Given the description of an element on the screen output the (x, y) to click on. 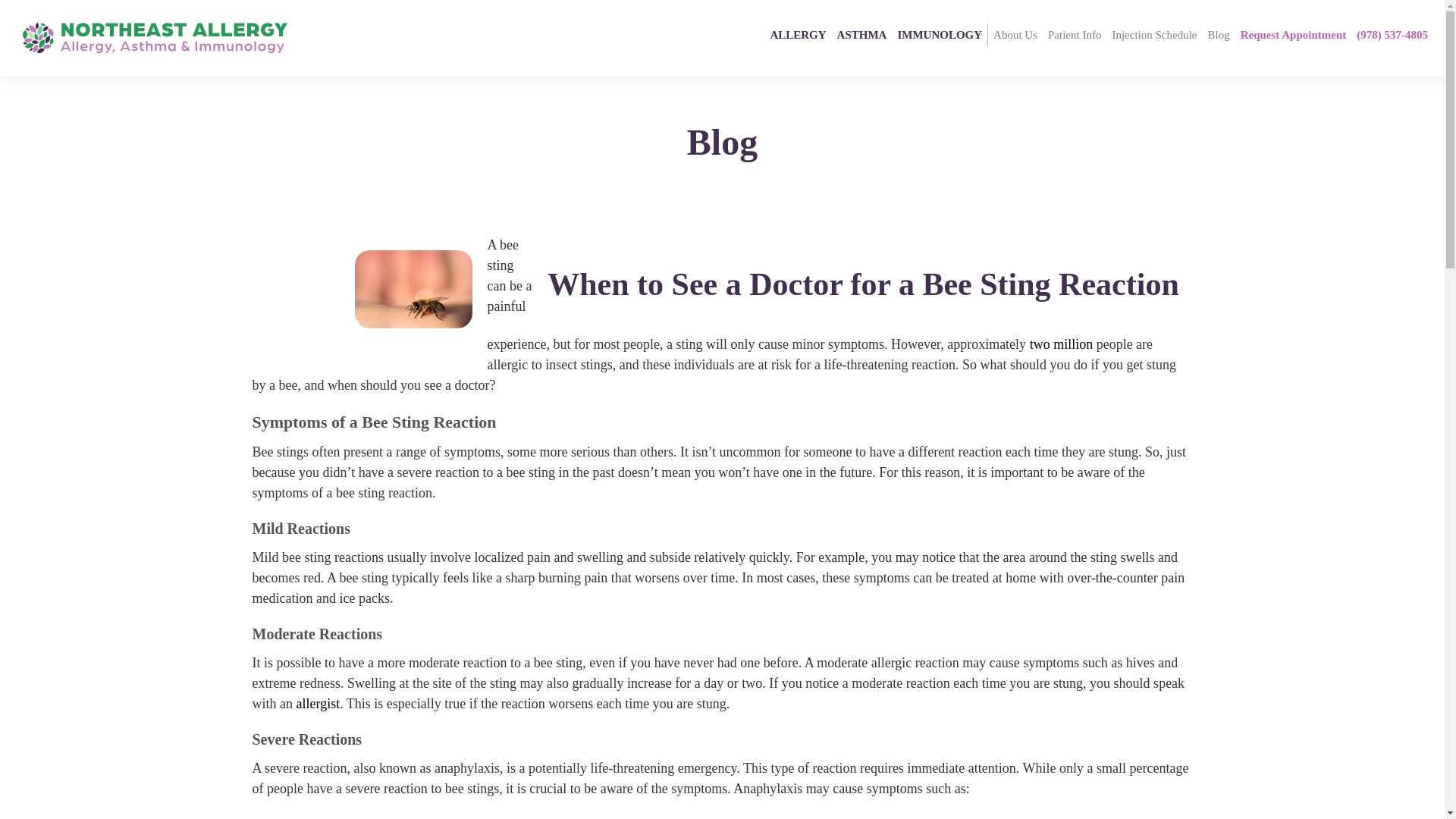
two million (1061, 344)
Request Appointment (1293, 34)
Injection Schedule (1154, 34)
ASTHMA (861, 34)
allergist (317, 703)
Blog (1218, 34)
About Us (1015, 34)
ALLERGY (797, 34)
IMMUNOLOGY (939, 34)
Patient Info (1074, 34)
